Given the description of an element on the screen output the (x, y) to click on. 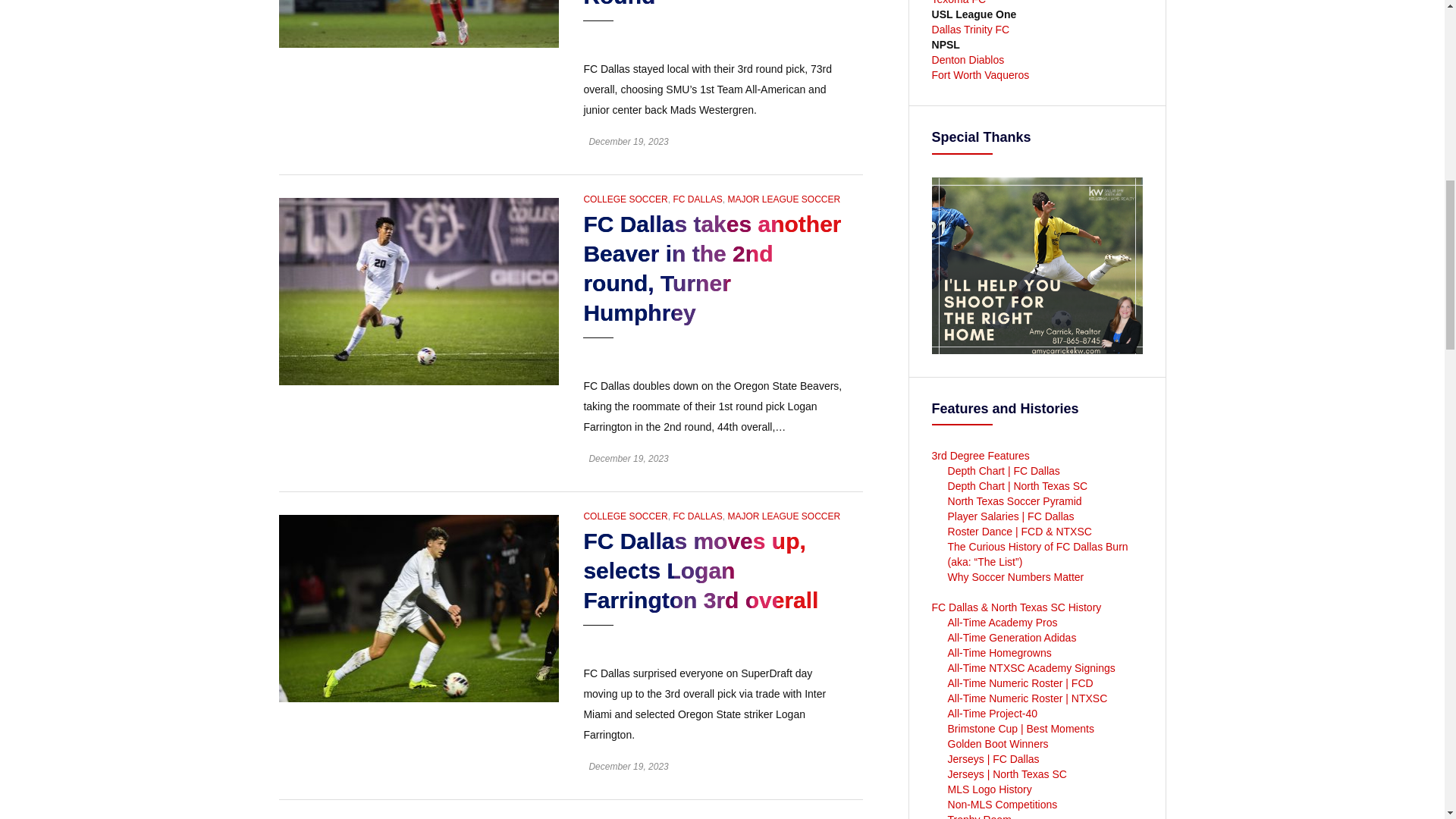
COLLEGE SOCCER (624, 199)
Share on Reddit (828, 639)
Share on Facebook (802, 352)
Share on X (776, 352)
Share on X (776, 35)
FC Dallas moves up, selects Logan Farrington 3rd overall (419, 607)
Share on X (776, 639)
Share on Facebook (802, 35)
FC DALLAS (697, 199)
MAJOR LEAGUE SOCCER (783, 199)
December 19, 2023 (628, 141)
Share on Reddit (828, 352)
December 19, 2023 (628, 458)
